Given the description of an element on the screen output the (x, y) to click on. 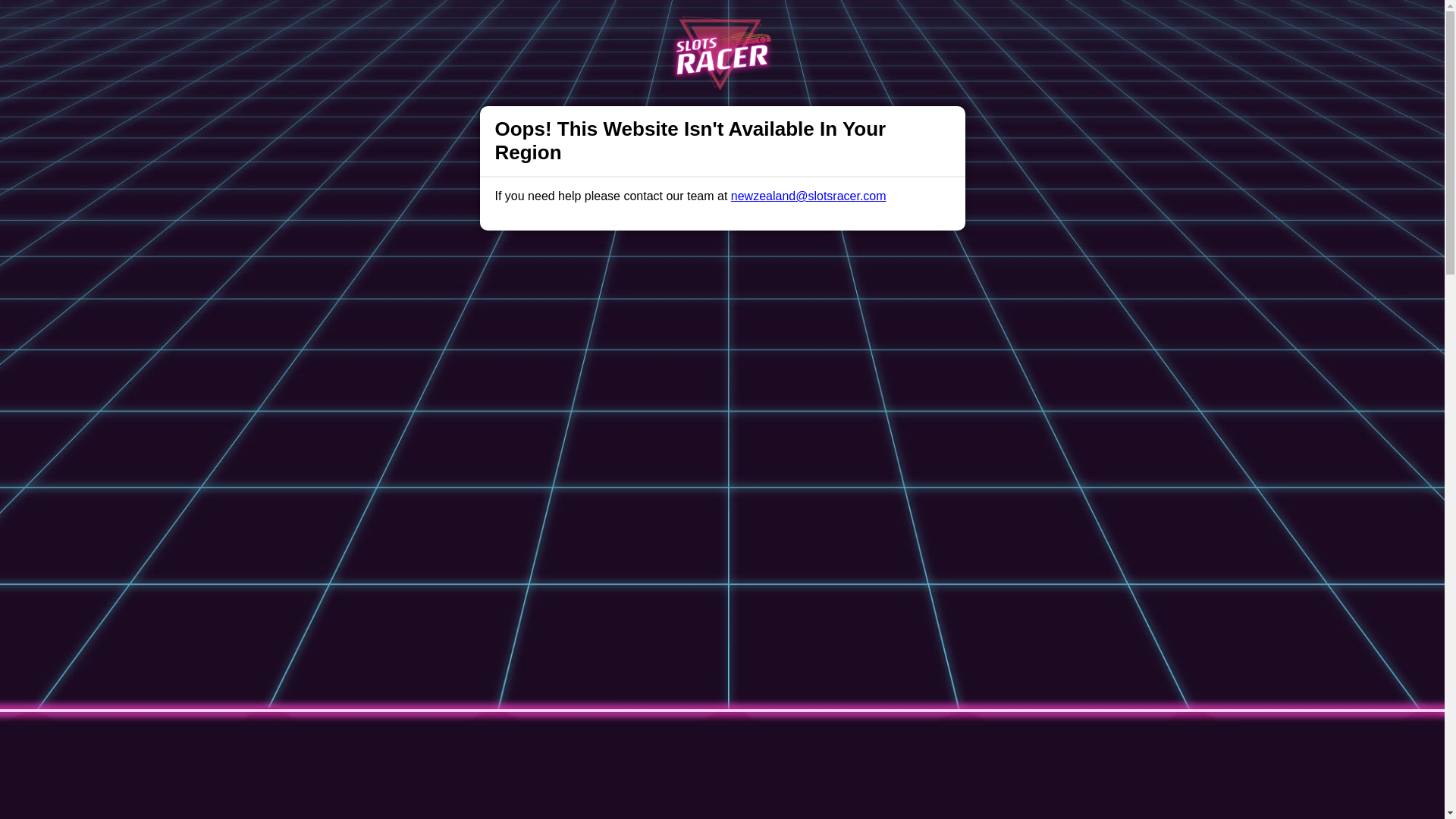
Join Now (1053, 27)
Trophies (437, 26)
Login (958, 27)
Promotions (506, 26)
All Games (579, 26)
